Given the description of an element on the screen output the (x, y) to click on. 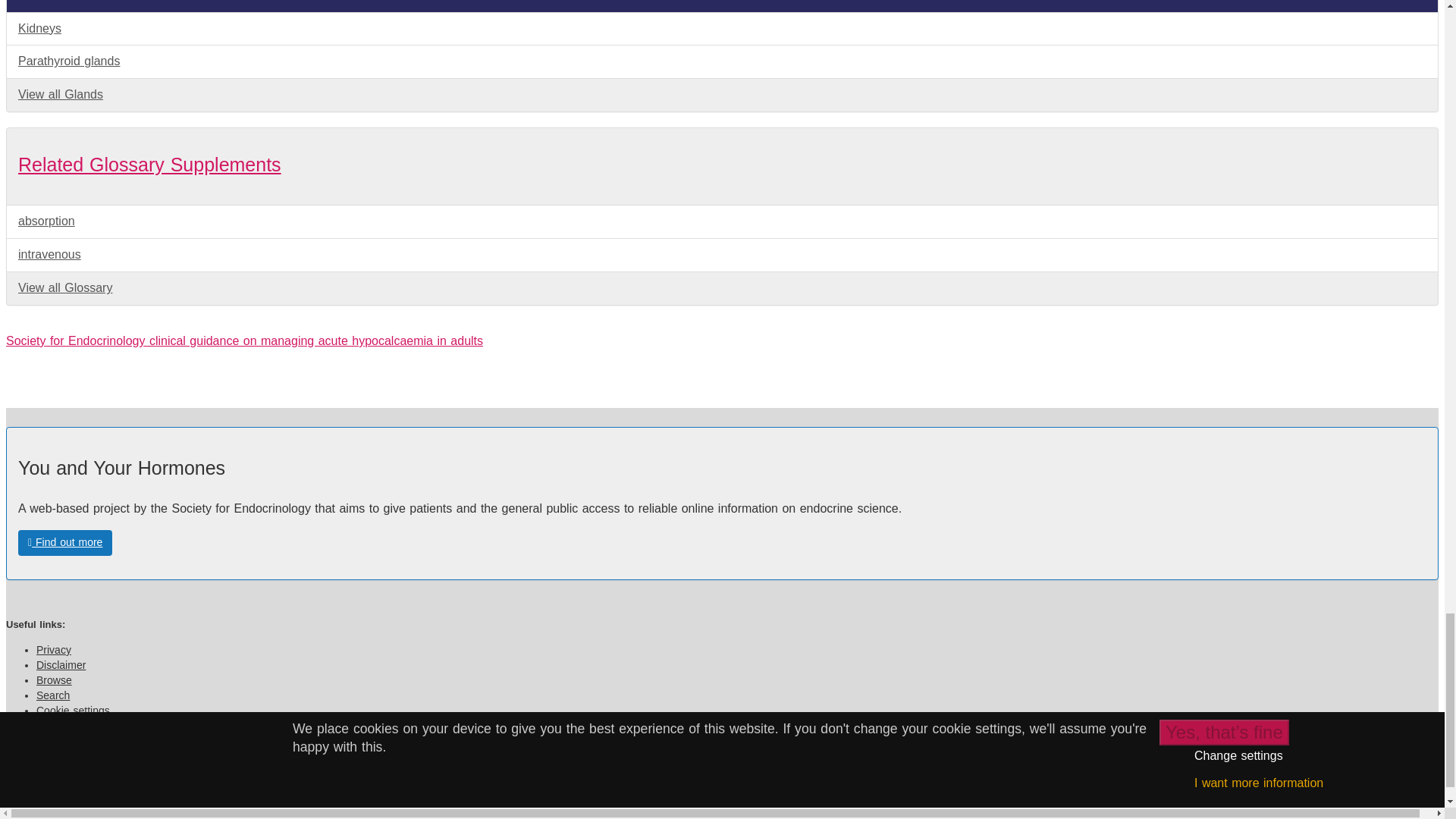
SfE clinical guideance on acute hypocalcaemia (244, 340)
